Given the description of an element on the screen output the (x, y) to click on. 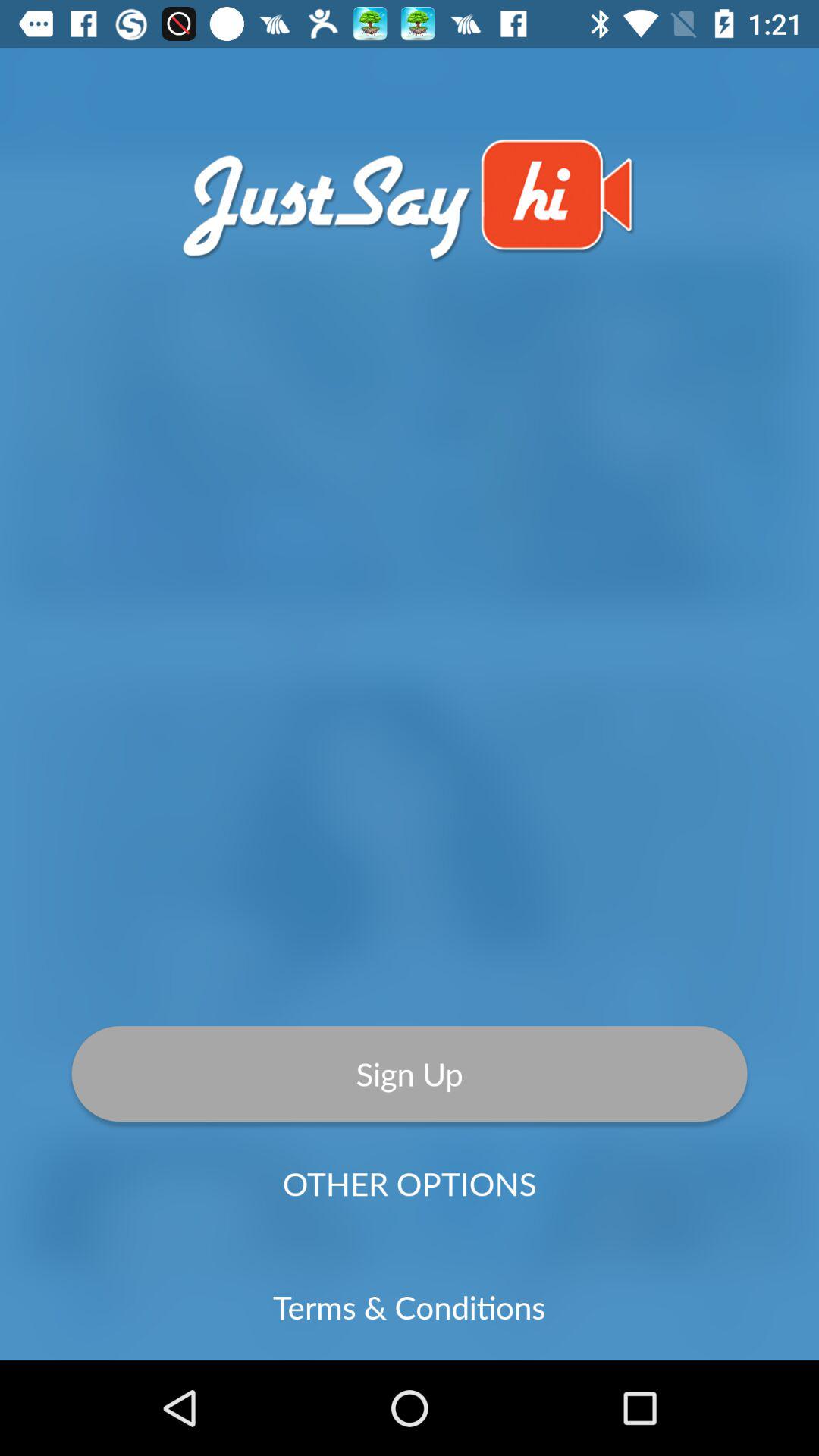
press the item above the other options icon (409, 1073)
